Given the description of an element on the screen output the (x, y) to click on. 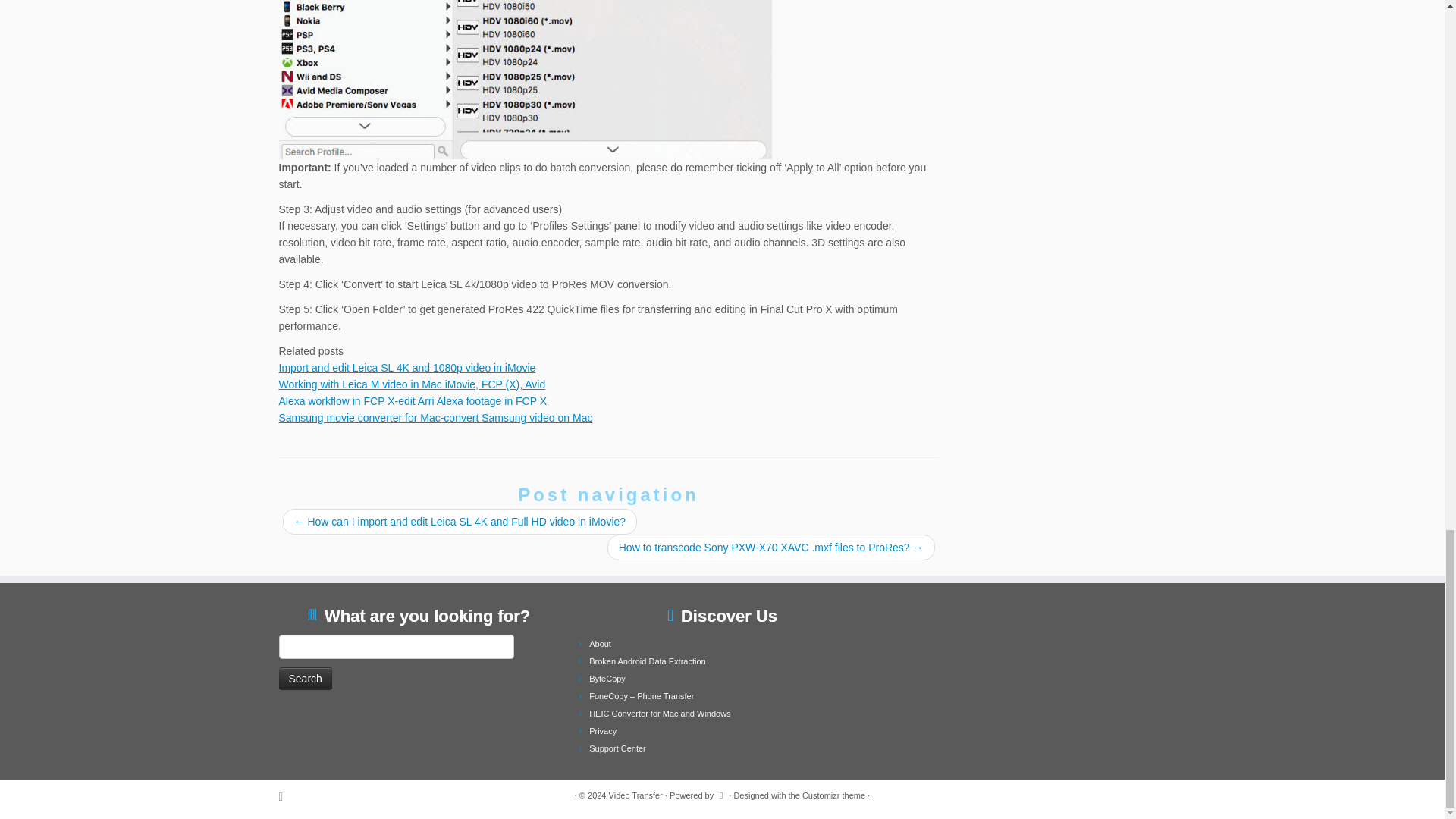
Customizr theme (833, 795)
Video Transfer (635, 795)
Follow us on Rss (286, 796)
Import and edit Leica SL 4K and 1080p video in iMovie (407, 367)
Powered by WordPress (721, 792)
Search (305, 678)
